Given the description of an element on the screen output the (x, y) to click on. 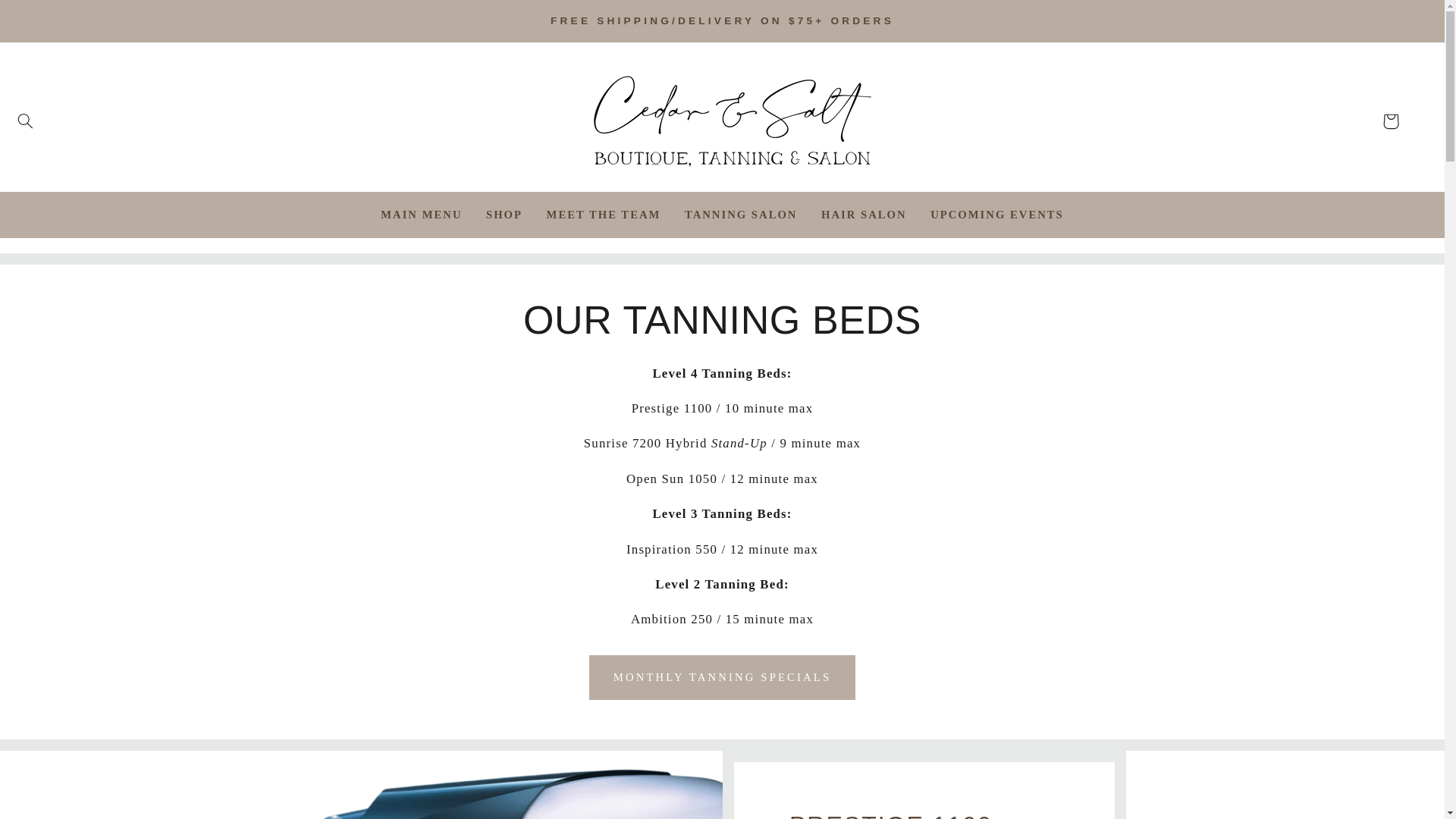
MONTHLY TANNING SPECIALS (722, 678)
MEET THE TEAM (603, 215)
TANNING SALON (740, 215)
UPCOMING EVENTS (996, 215)
MAIN MENU (421, 215)
Cart (1390, 121)
SHOP (504, 215)
HAIR SALON (863, 215)
SKIP TO CONTENT (47, 17)
